Given the description of an element on the screen output the (x, y) to click on. 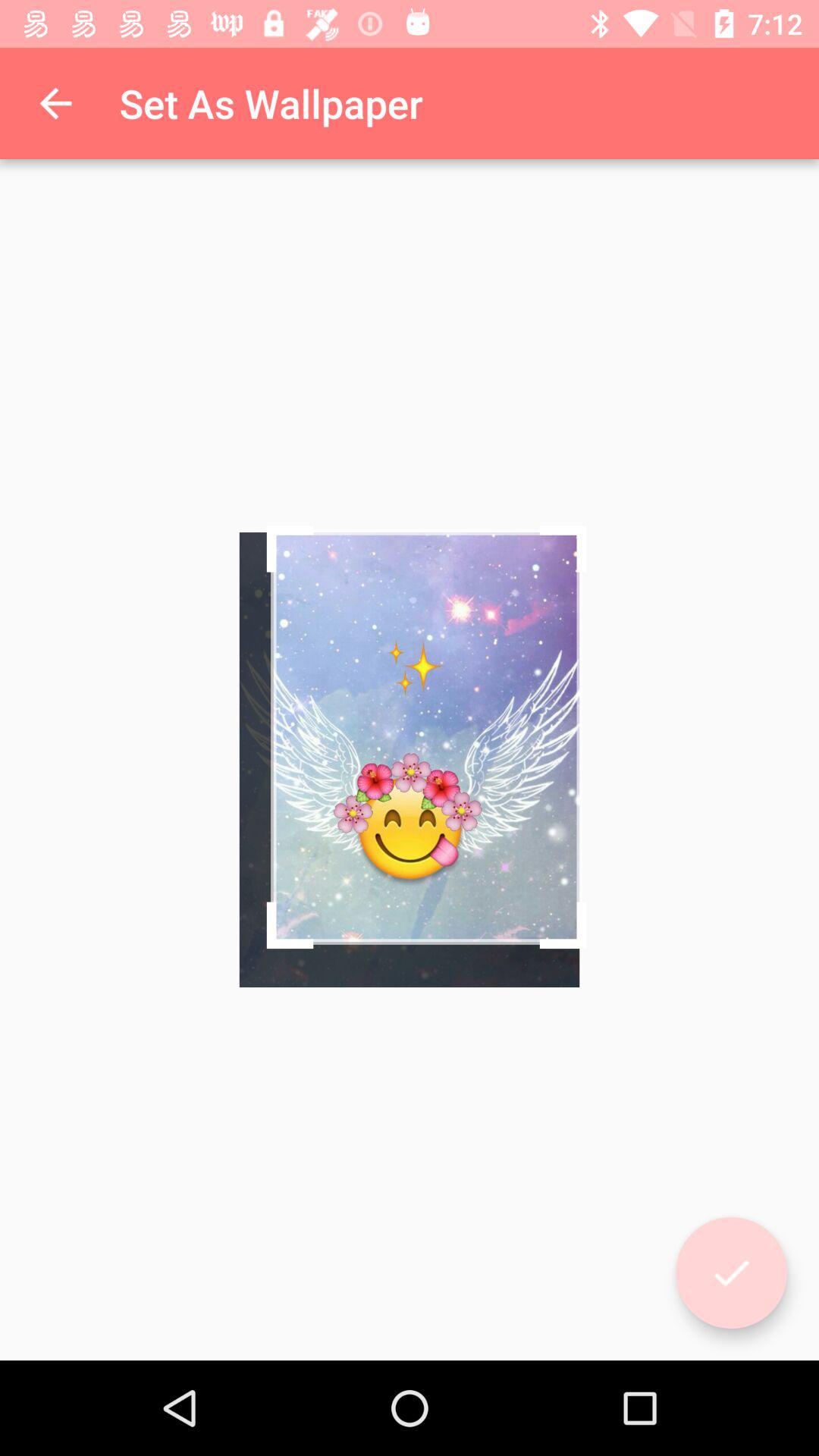
select the item at the bottom right corner (731, 1272)
